Given the description of an element on the screen output the (x, y) to click on. 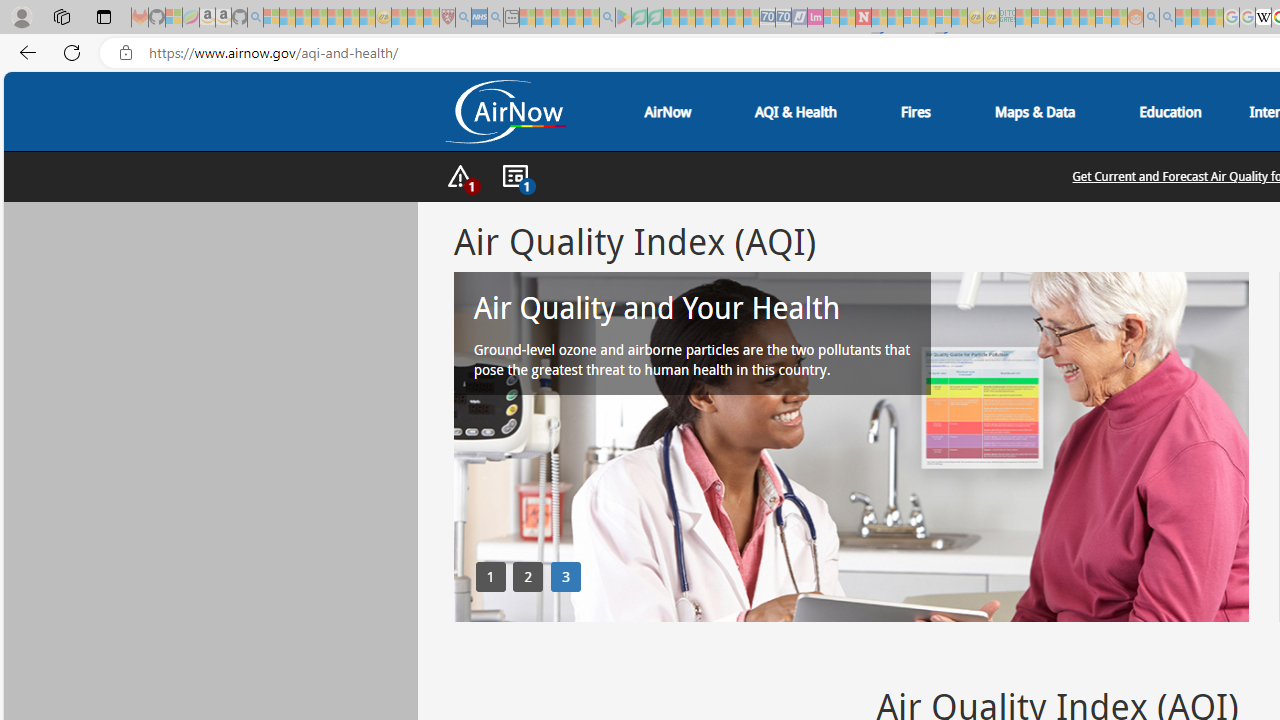
utah sues federal government - Search - Sleeping (495, 17)
Jobs - lastminute.com Investor Portal - Sleeping (815, 17)
Terms of Use Agreement - Sleeping (639, 17)
AutomationID: nav-announcements-toggle (514, 177)
